Given the description of an element on the screen output the (x, y) to click on. 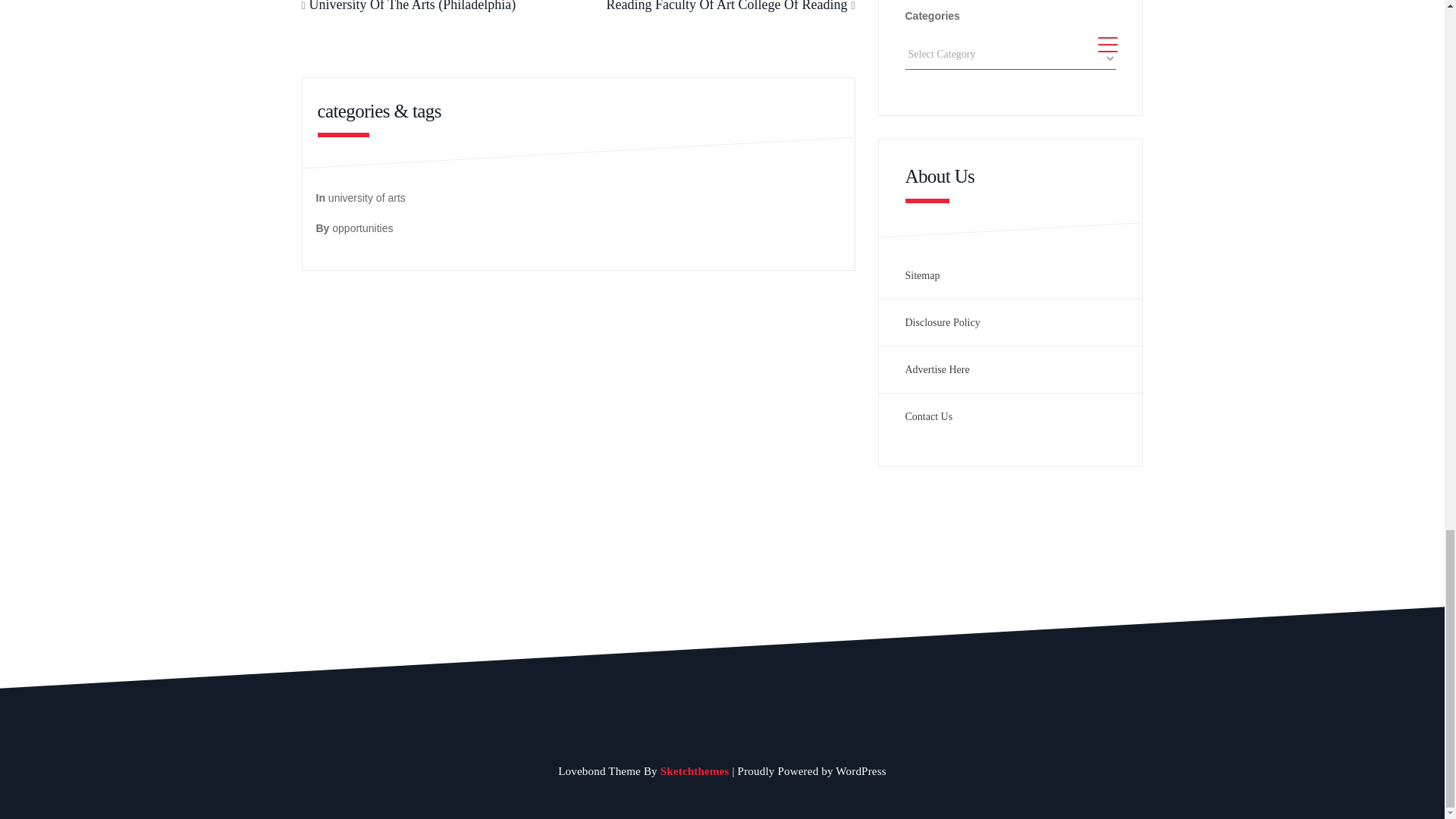
university of arts (367, 197)
Reading Faculty Of Art College Of Reading (727, 6)
opportunities (362, 227)
